Given the description of an element on the screen output the (x, y) to click on. 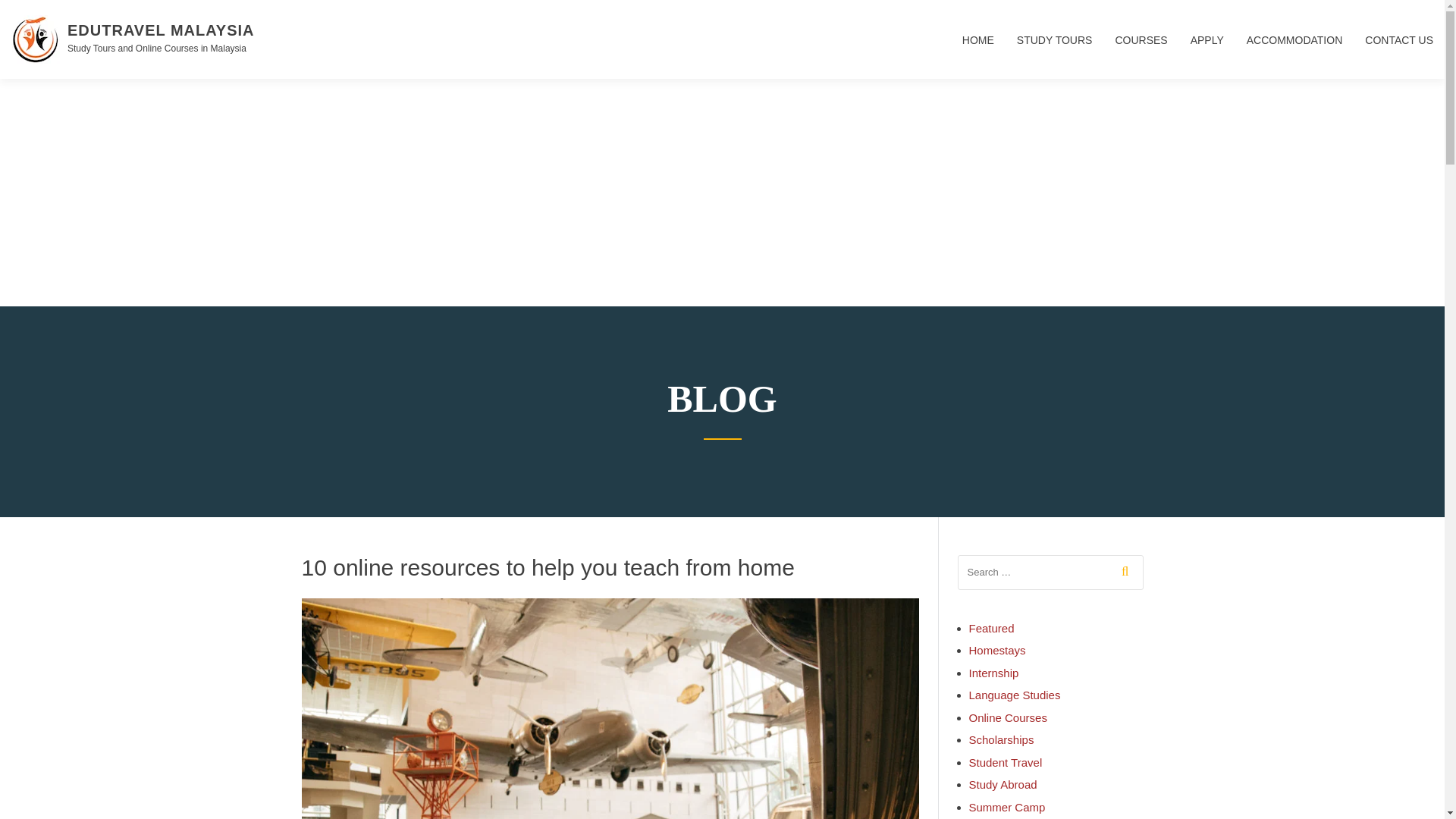
COURSES (1140, 49)
HOME (978, 49)
ACCOMMODATION (1294, 49)
STUDY TOURS (1054, 49)
CONTACT US (1393, 49)
APPLY (1206, 49)
EDUTRAVEL MALAYSIA (160, 30)
